Given the description of an element on the screen output the (x, y) to click on. 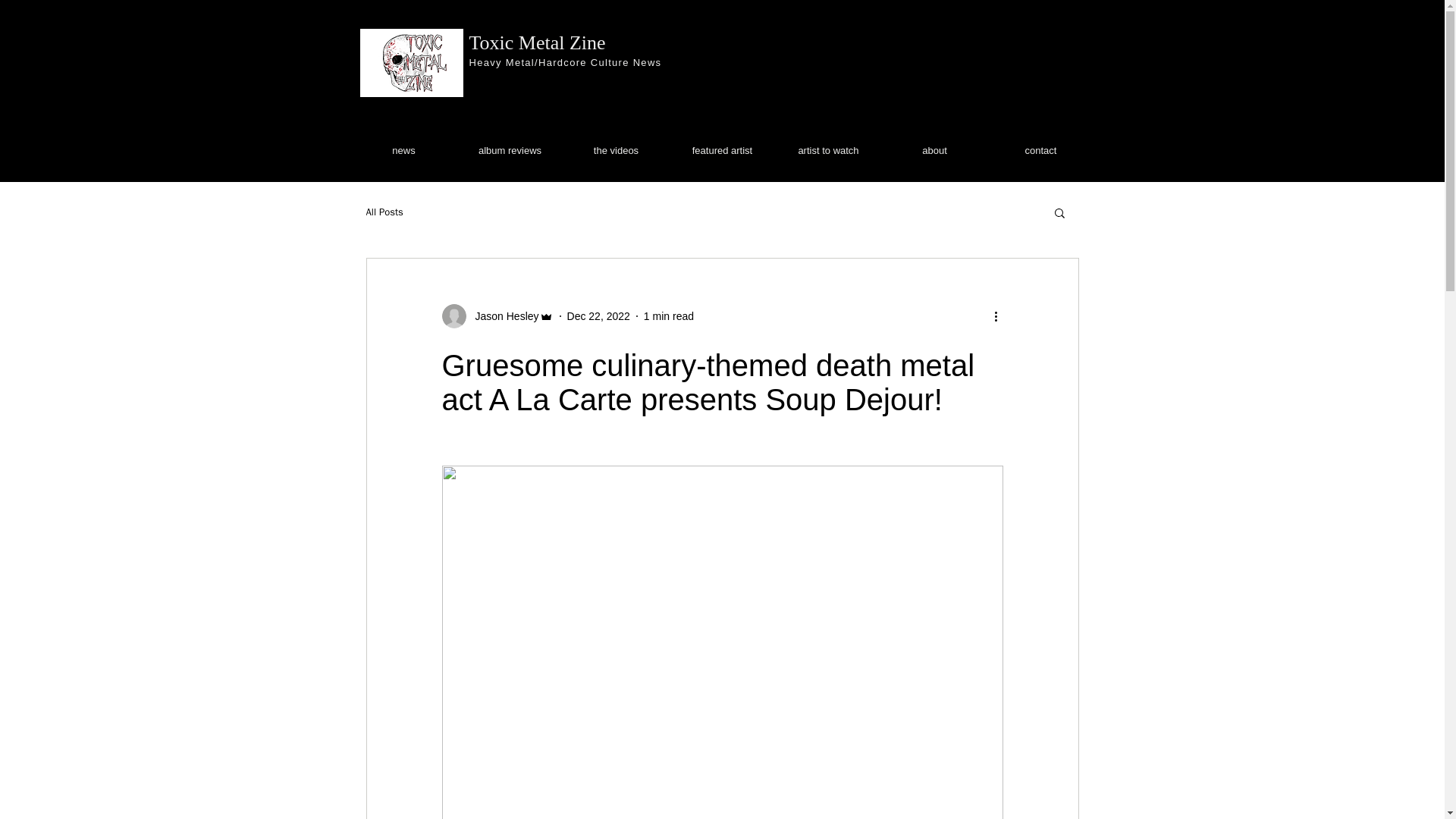
All Posts (384, 212)
artist to watch (827, 150)
contact (1040, 150)
about (933, 150)
Toxic Metal Zine (536, 42)
featured artist (721, 150)
1 min read (668, 315)
Dec 22, 2022 (598, 315)
Jason Hesley (501, 315)
news (403, 150)
